Given the description of an element on the screen output the (x, y) to click on. 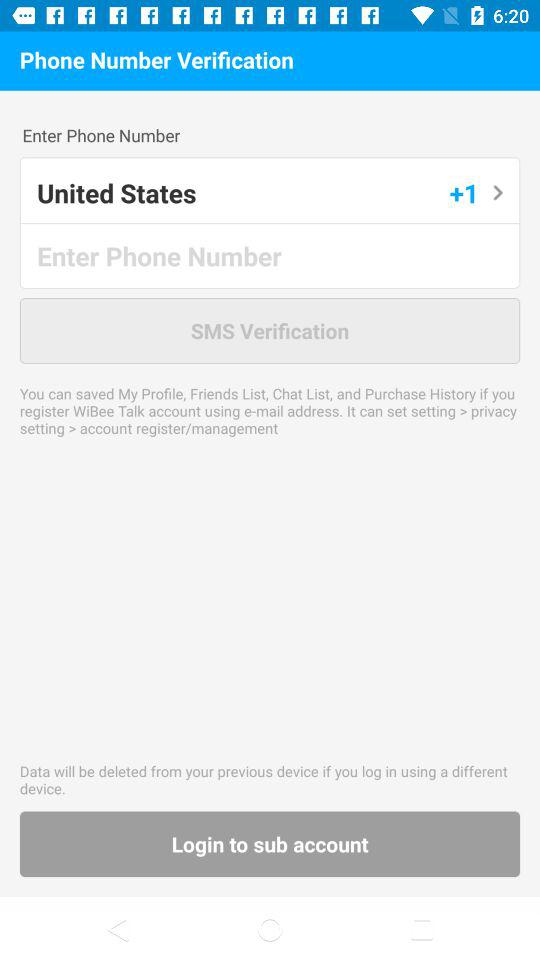
open the login to sub app (269, 844)
